Given the description of an element on the screen output the (x, y) to click on. 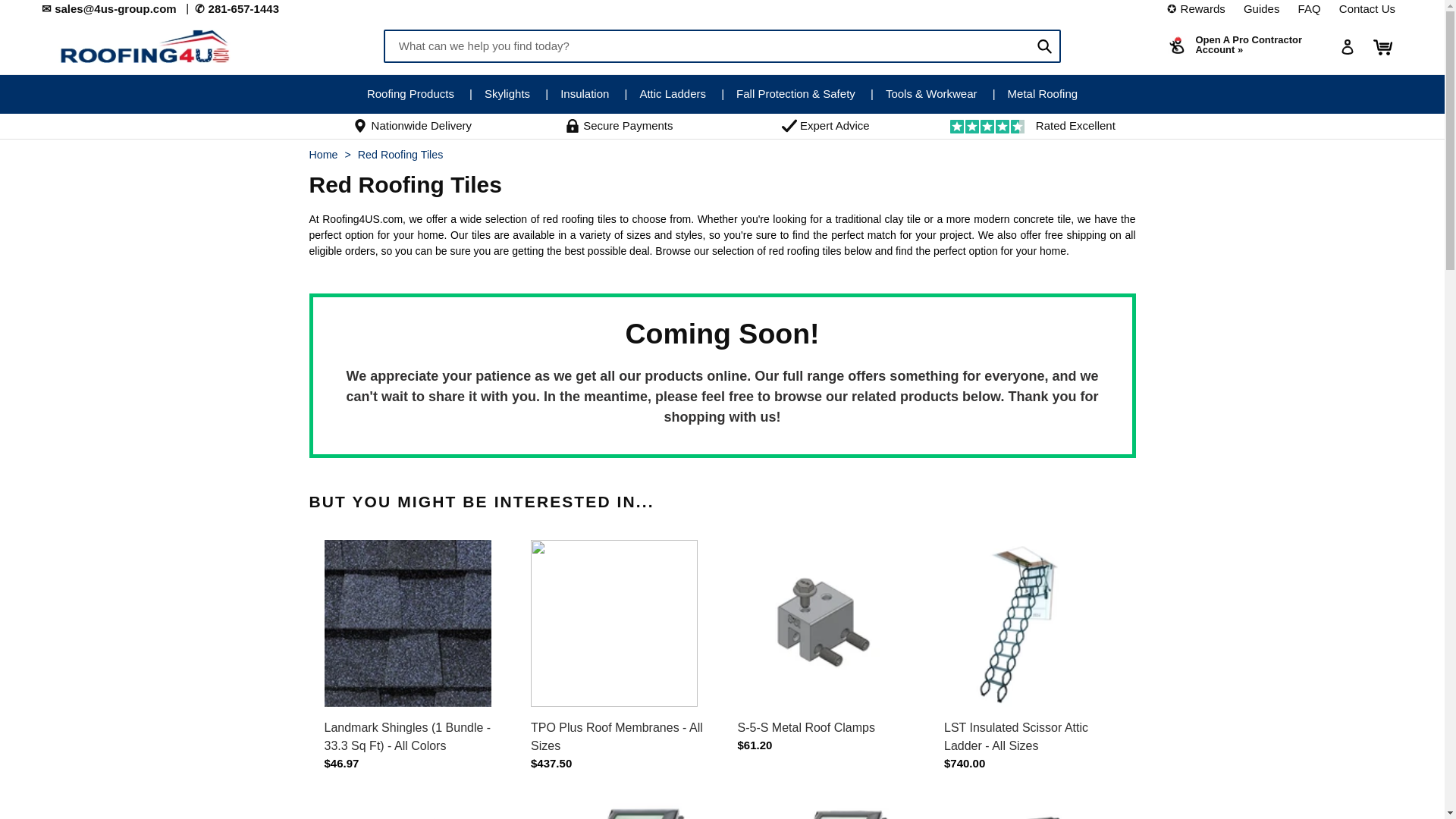
Guides (1261, 8)
Submit (1044, 46)
Contact Us (1367, 8)
Log in (1347, 46)
Cart (1382, 46)
FAQ (1308, 8)
